Given the description of an element on the screen output the (x, y) to click on. 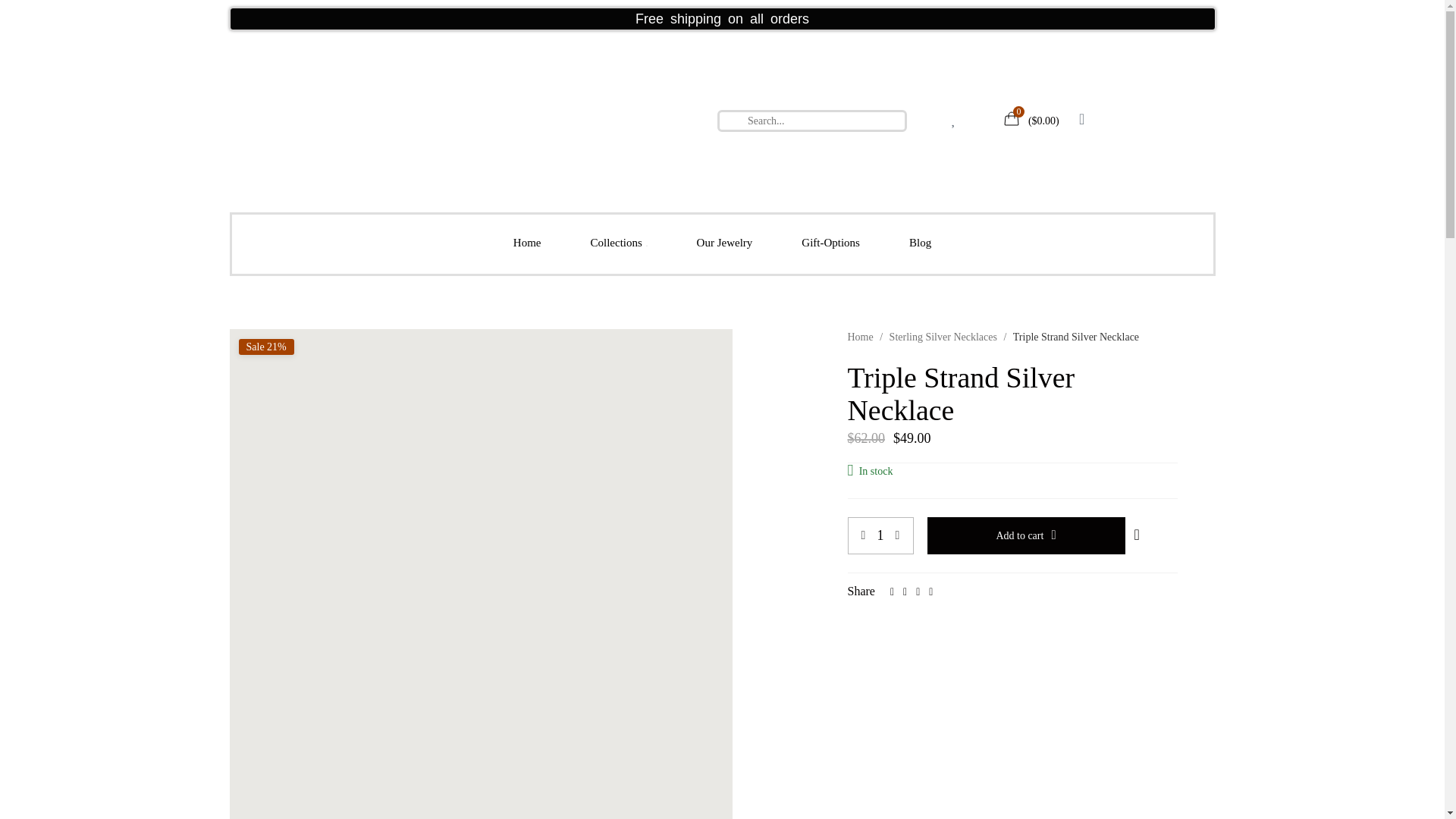
Add to cart (1025, 535)
Gift-Options (830, 242)
Home (860, 337)
Collections (618, 243)
1 (880, 535)
Sterling Silver Necklaces (943, 337)
Our Jewelry (724, 242)
